Given the description of an element on the screen output the (x, y) to click on. 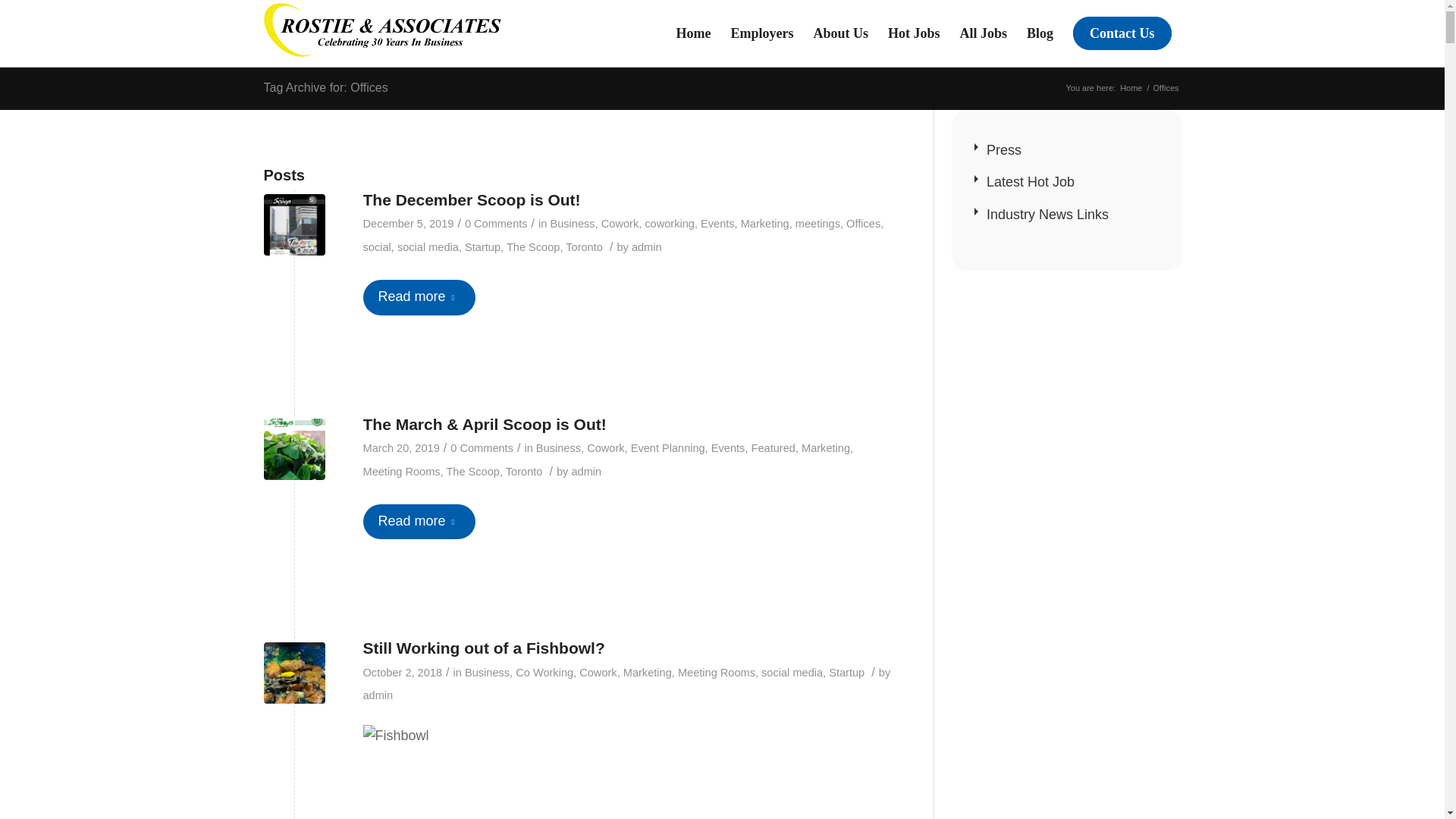
Business (557, 448)
Events (717, 223)
Home (1131, 88)
Permanent Link: The December Scoop is Out! (470, 199)
Contact Us (1121, 33)
Home (692, 33)
Read more (419, 297)
Cowork (605, 448)
Featured (772, 448)
Employers (761, 33)
Toronto (524, 471)
Cowork (620, 223)
Marketing (765, 223)
Startup (482, 246)
Still Working out of a Fishbowl? (293, 672)
